Given the description of an element on the screen output the (x, y) to click on. 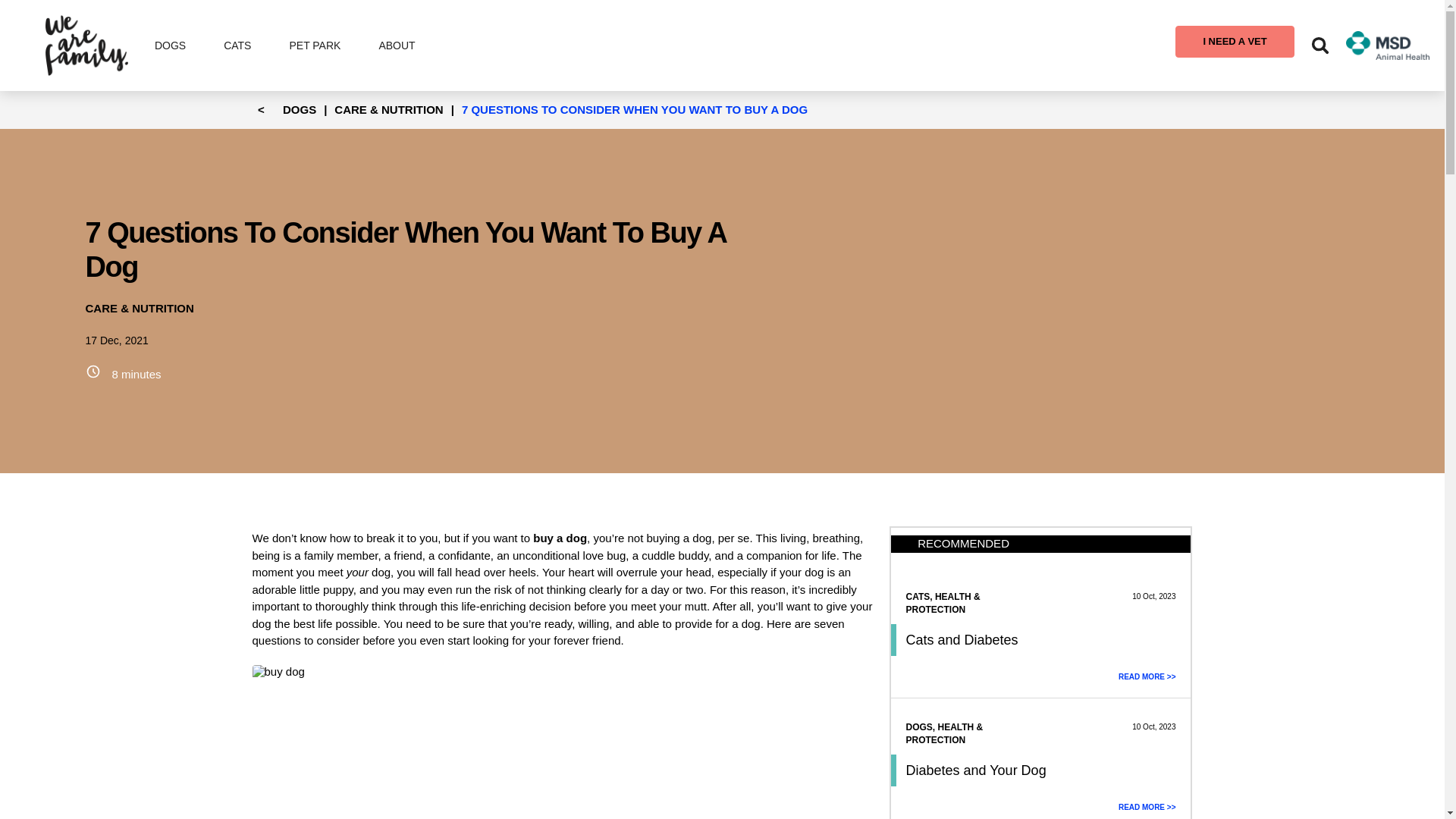
ABOUT (396, 45)
Toggle search (1319, 45)
I NEED A VET (1234, 41)
PET PARK (314, 45)
DOGS (170, 45)
DOGS (298, 109)
CATS (237, 45)
Cats and Diabetes (961, 640)
